Given the description of an element on the screen output the (x, y) to click on. 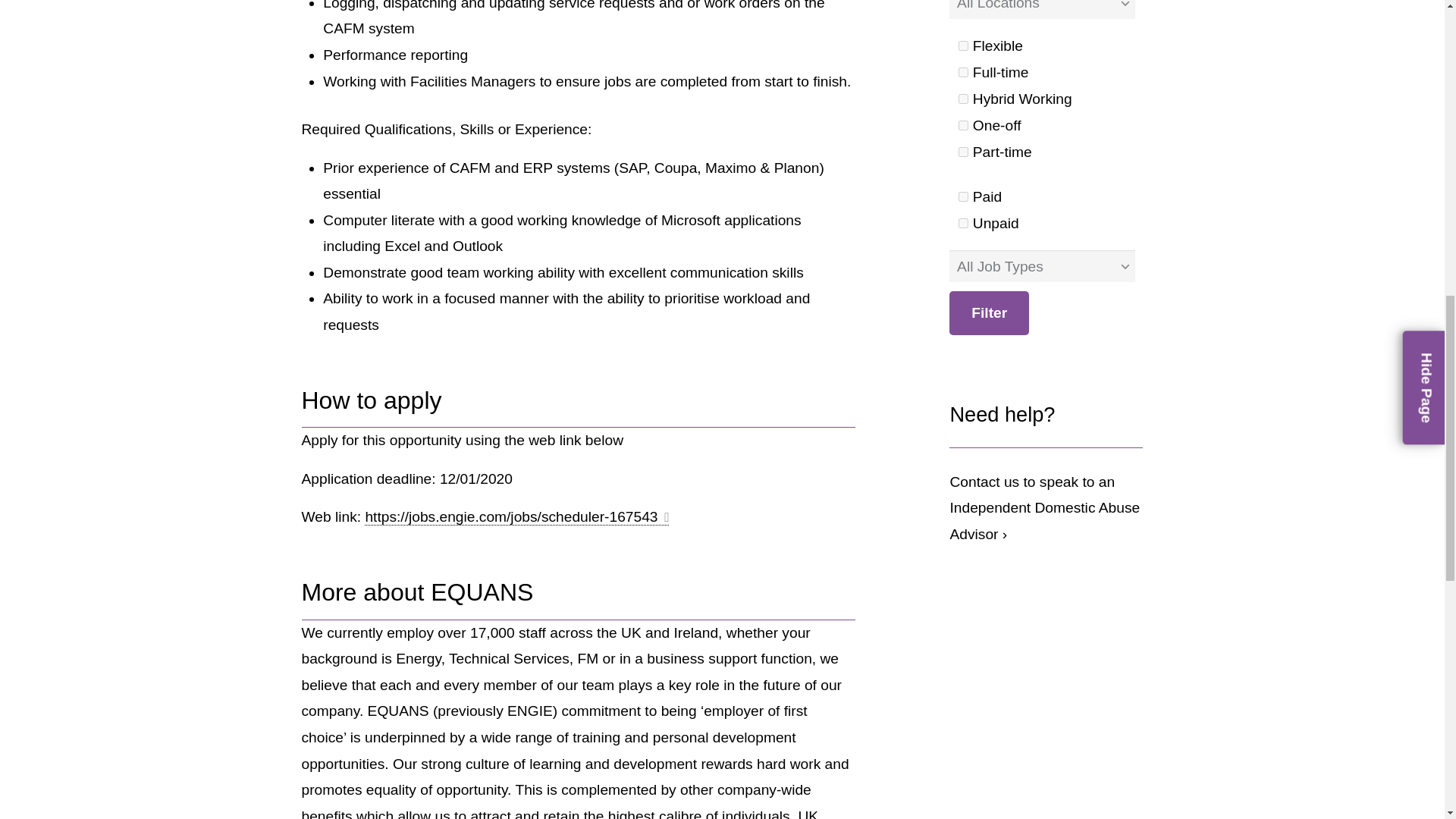
106 (963, 71)
109 (963, 196)
Filter (989, 312)
182 (963, 45)
108 (963, 152)
107 (963, 125)
194 (963, 99)
110 (963, 223)
